Given the description of an element on the screen output the (x, y) to click on. 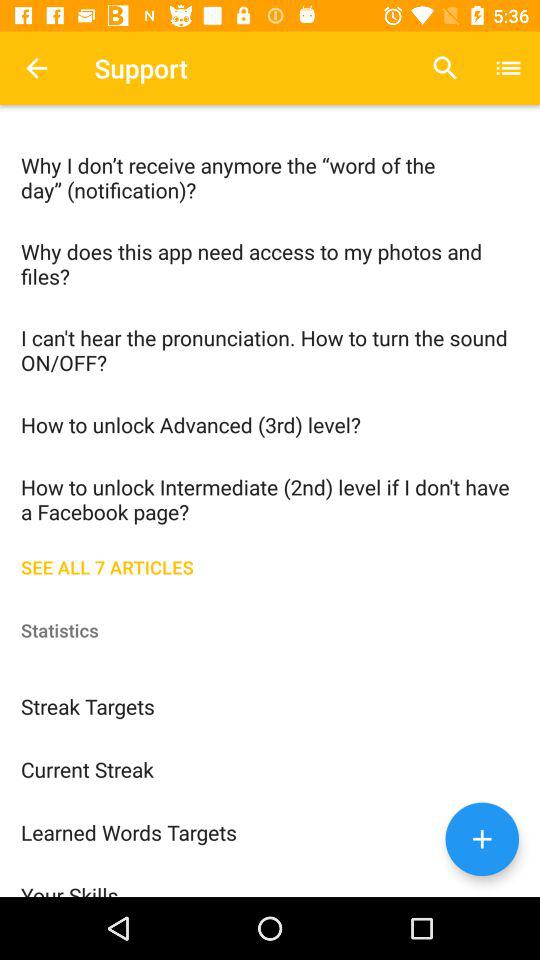
open the icon above the your skills icon (270, 831)
